Given the description of an element on the screen output the (x, y) to click on. 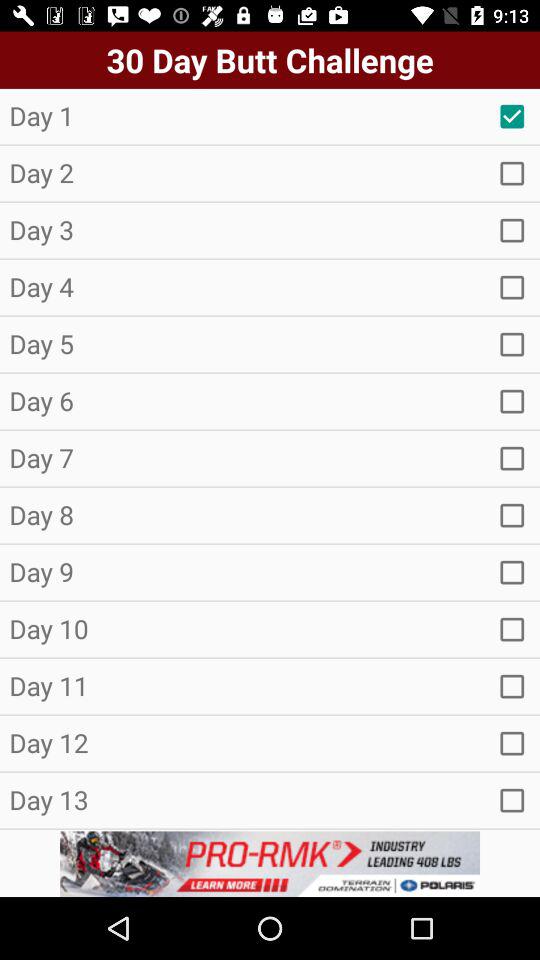
select day 9 (512, 572)
